Given the description of an element on the screen output the (x, y) to click on. 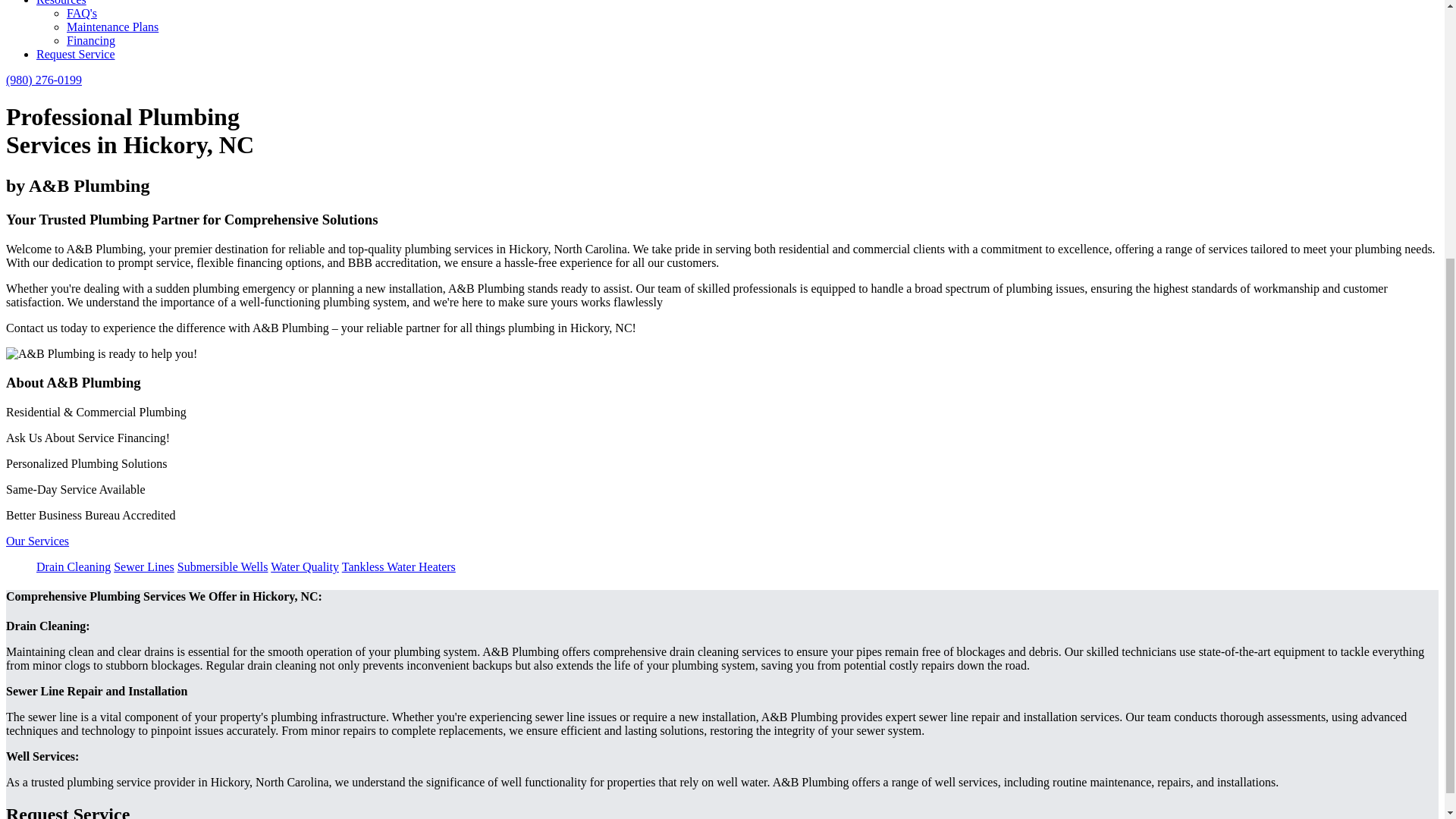
Submersible Wells (222, 566)
Maintenance Plans (112, 26)
Sewer Lines (143, 566)
Water Quality (304, 566)
Resources (60, 2)
Financing (90, 40)
Our Services (36, 540)
FAQ's (81, 12)
Drain Cleaning (73, 566)
Request Service (75, 53)
Tankless Water Heaters (398, 566)
